Given the description of an element on the screen output the (x, y) to click on. 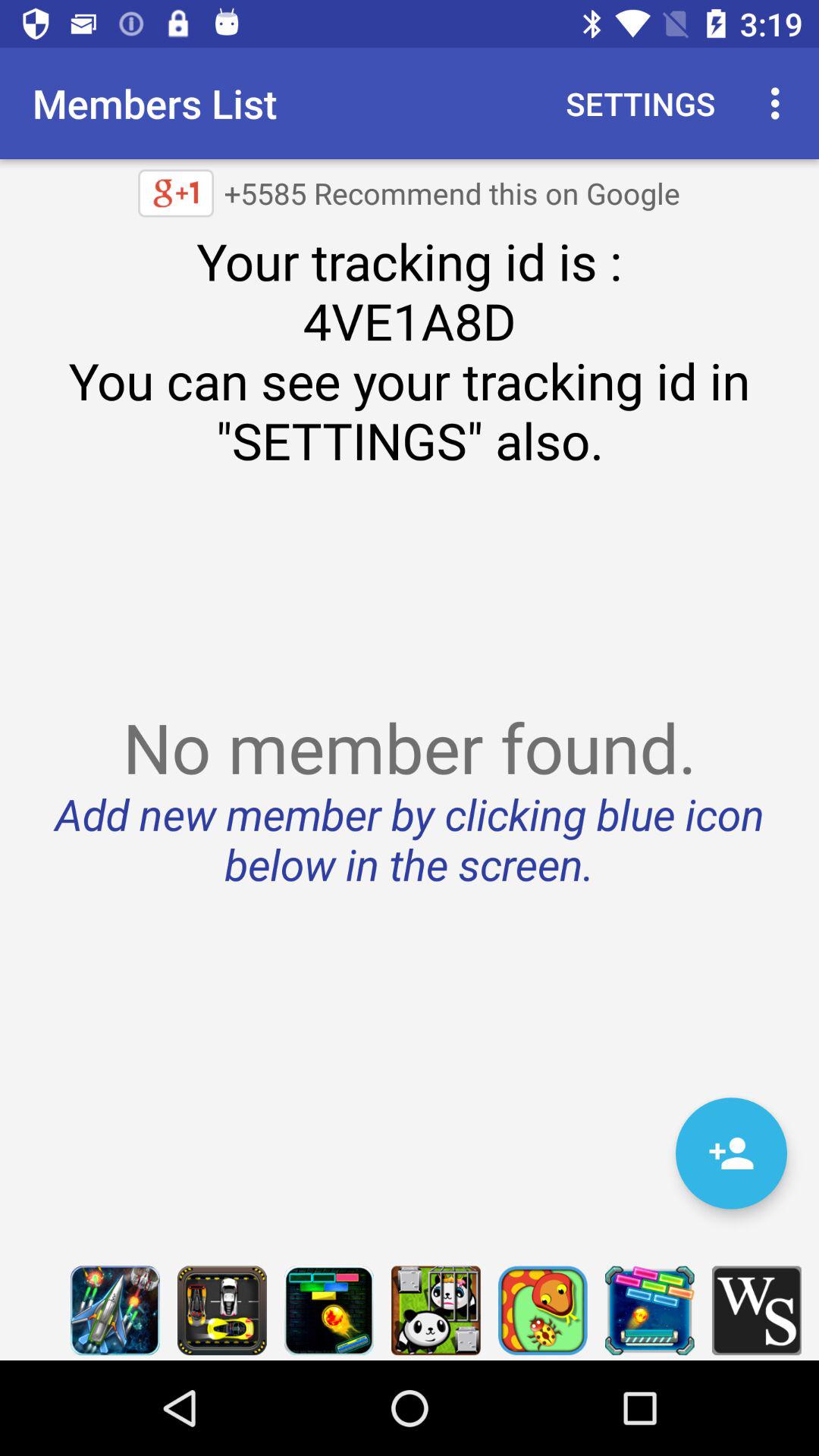
open application (435, 1310)
